Given the description of an element on the screen output the (x, y) to click on. 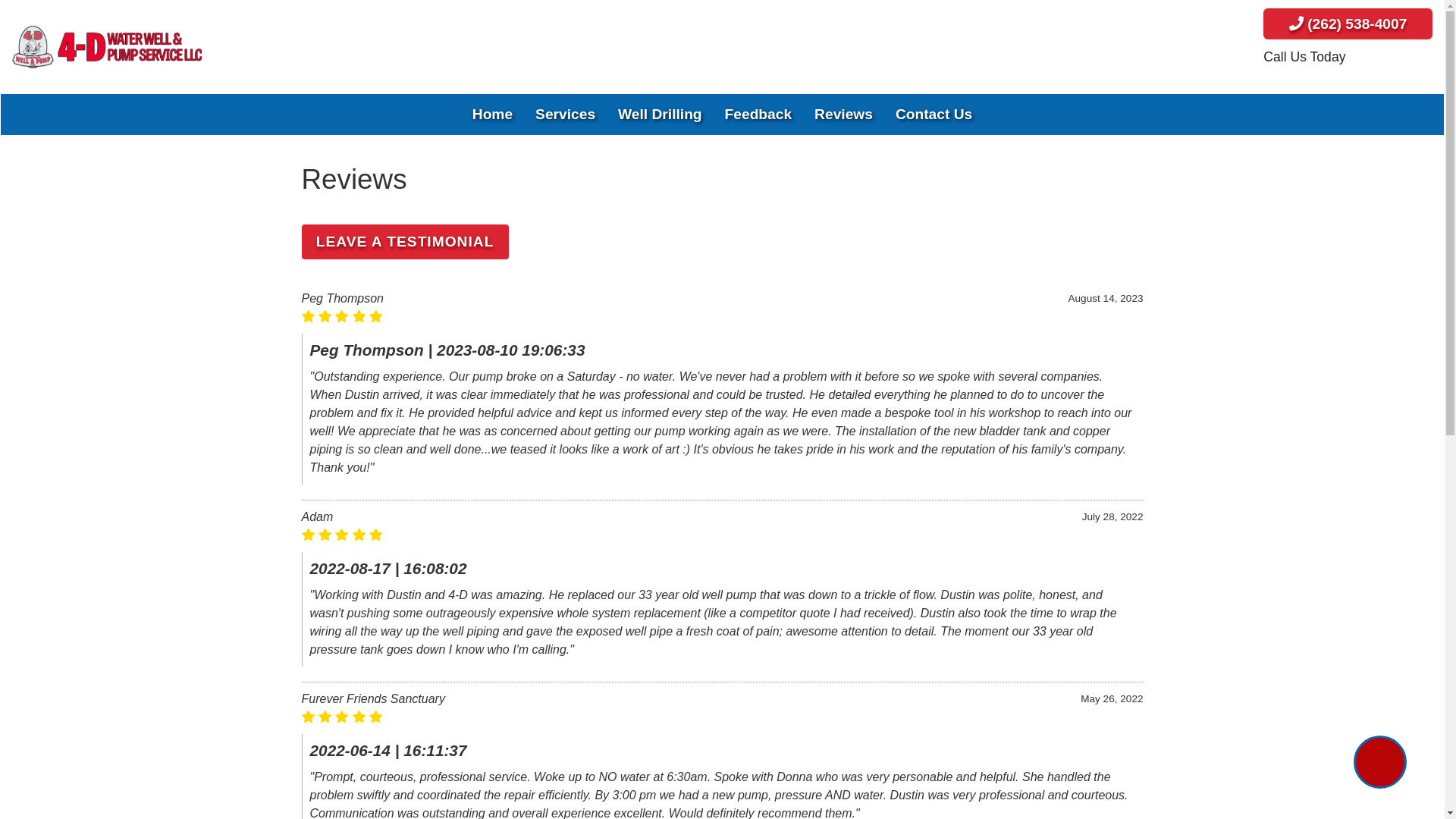
Well Drilling Element type: text (659, 114)
Services Element type: text (565, 114)
LEAVE A TESTIMONIAL Element type: text (404, 241)
Reviews Element type: text (843, 114)
Feedback Element type: text (758, 114)
Home Element type: text (492, 114)
Contact Us Element type: text (933, 114)
(262) 538-4007 Element type: text (1347, 23)
